Given the description of an element on the screen output the (x, y) to click on. 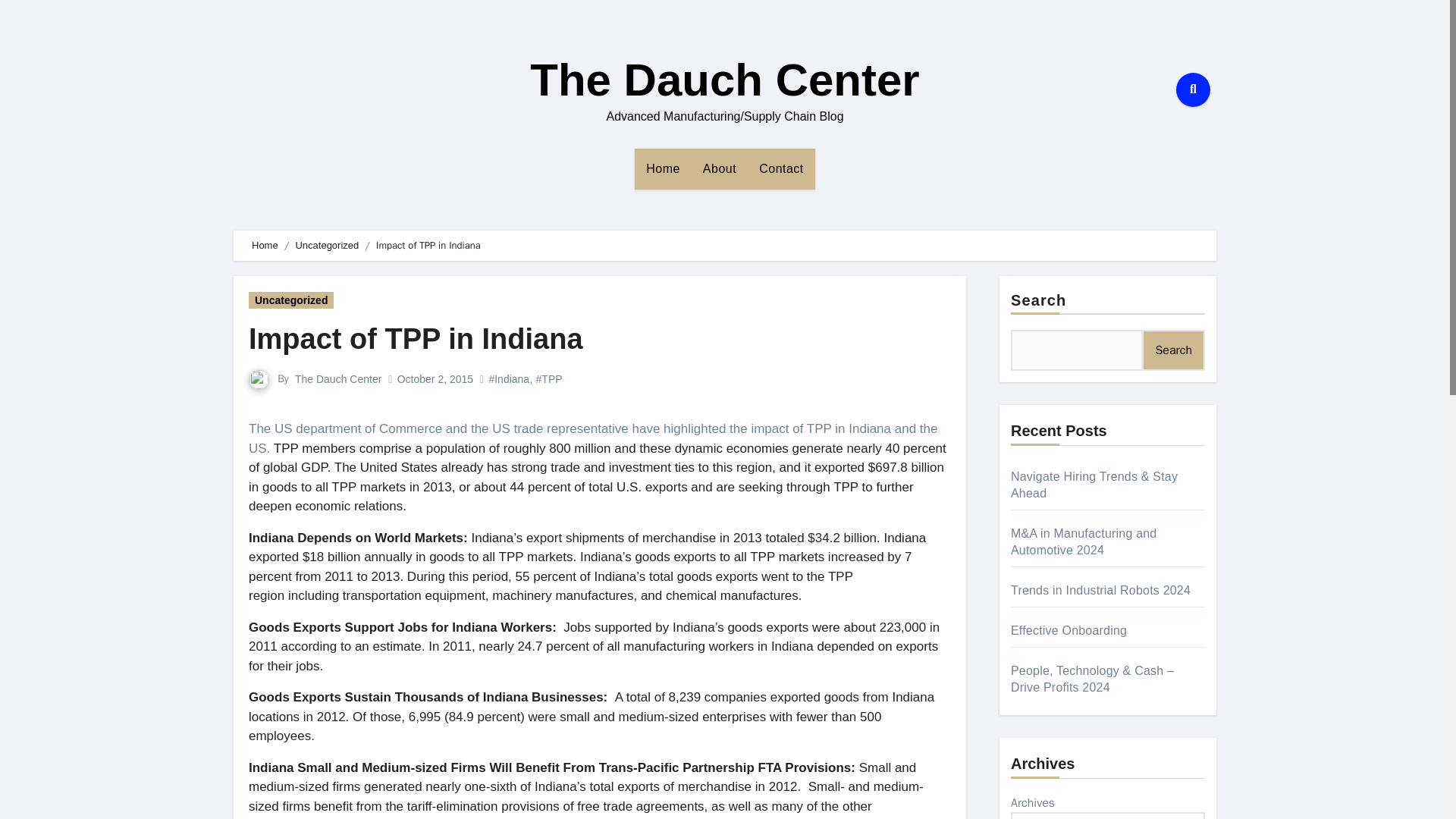
Permalink to: Impact of TPP in Indiana (415, 338)
Home (662, 168)
Uncategorized (290, 299)
The Dauch Center (723, 79)
The Dauch Center (338, 378)
Home (662, 168)
Contact (781, 168)
About (719, 168)
Home (264, 244)
Impact of TPP in Indiana (415, 338)
Uncategorized (326, 244)
October 2, 2015 (435, 378)
